Given the description of an element on the screen output the (x, y) to click on. 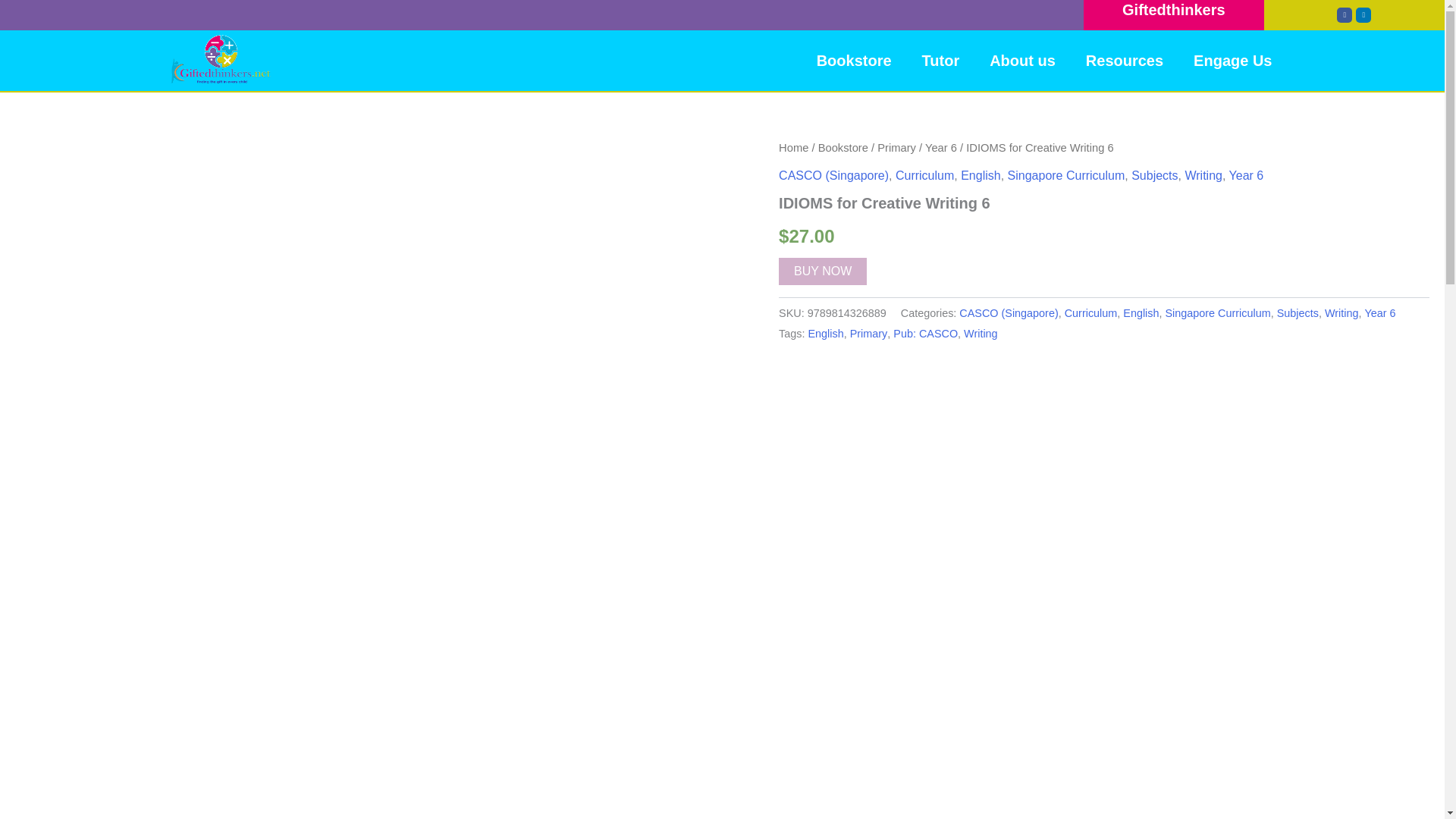
Facebook (1344, 14)
Engage Us (1232, 60)
Year 6 (1245, 174)
Bookstore (854, 60)
Resources (1123, 60)
Subjects (1154, 174)
Linkedin (1363, 14)
Tutor (941, 60)
Writing (1204, 174)
English (980, 174)
